Given the description of an element on the screen output the (x, y) to click on. 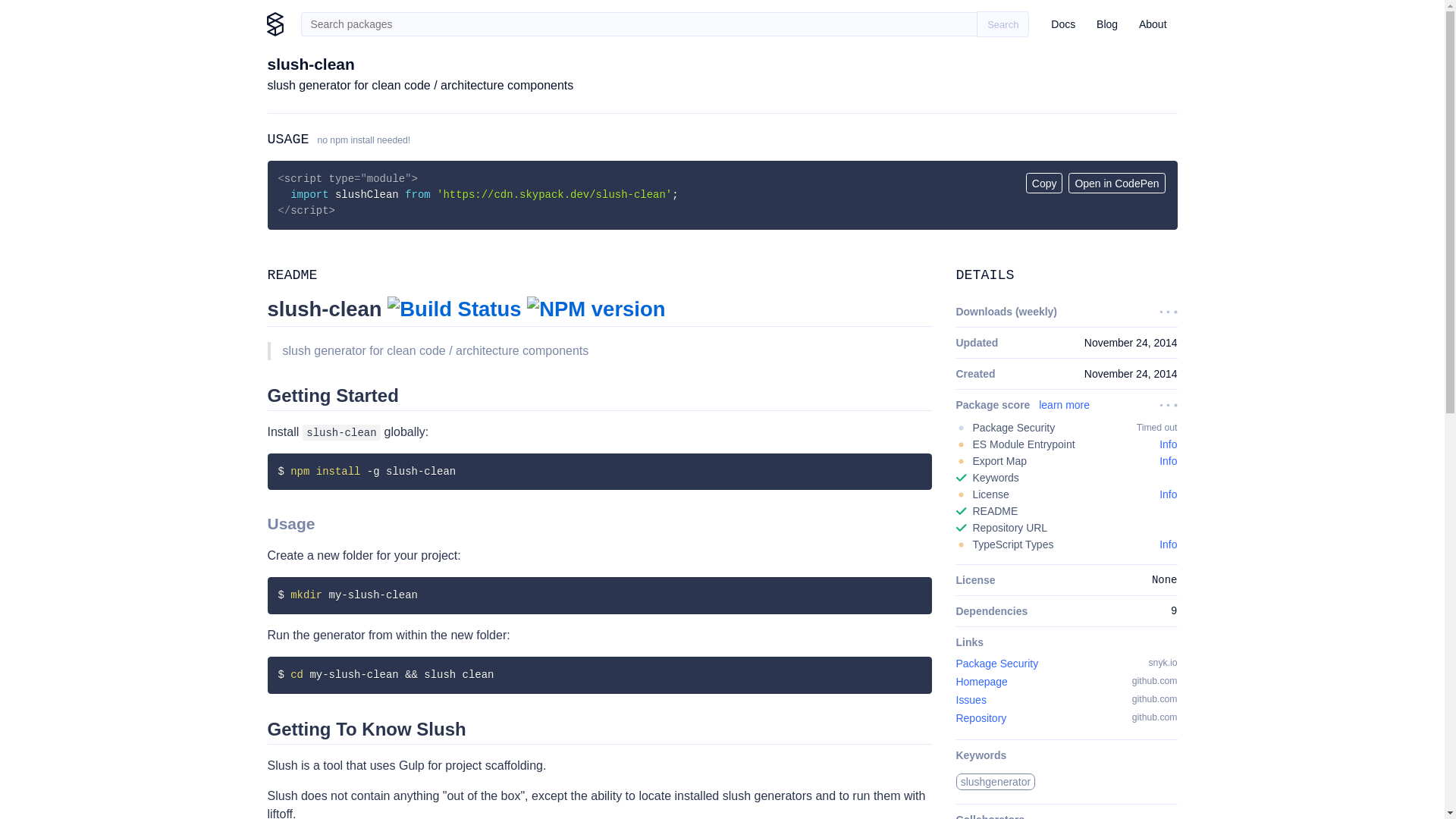
Info (1167, 444)
About (1152, 24)
learn more (1064, 404)
Package Security (996, 663)
Search (1001, 24)
Info (1167, 460)
Repository (980, 717)
slushgenerator (995, 781)
Docs (1063, 24)
Homepage (981, 681)
Info (1167, 494)
Issues (970, 699)
Copy (1044, 182)
Info (1167, 544)
Blog (1107, 24)
